Given the description of an element on the screen output the (x, y) to click on. 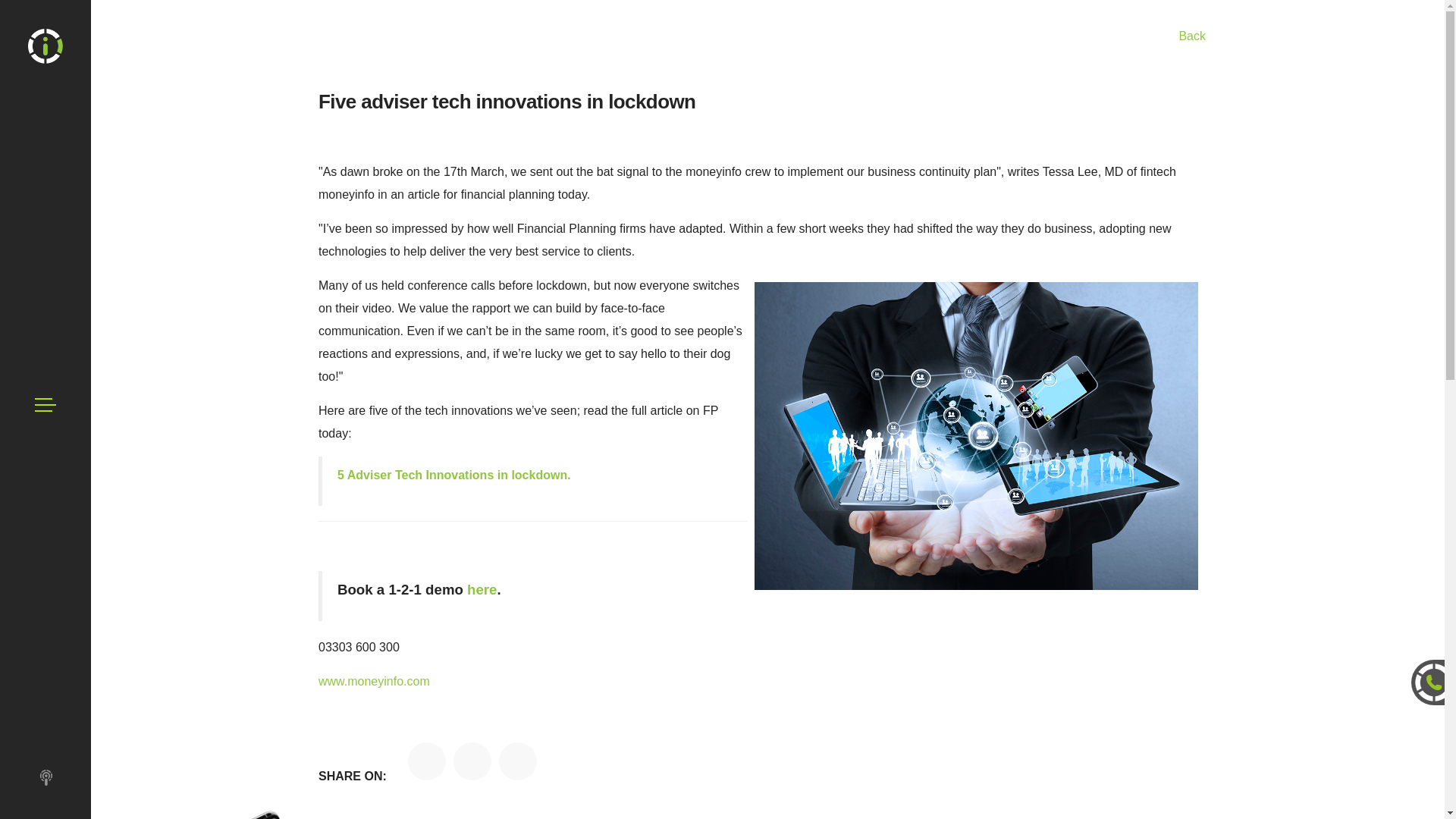
Back (761, 36)
5 Adviser Tech Innovations in lockdown. (453, 474)
www.moneyinfo.com (373, 680)
here (481, 589)
